Given the description of an element on the screen output the (x, y) to click on. 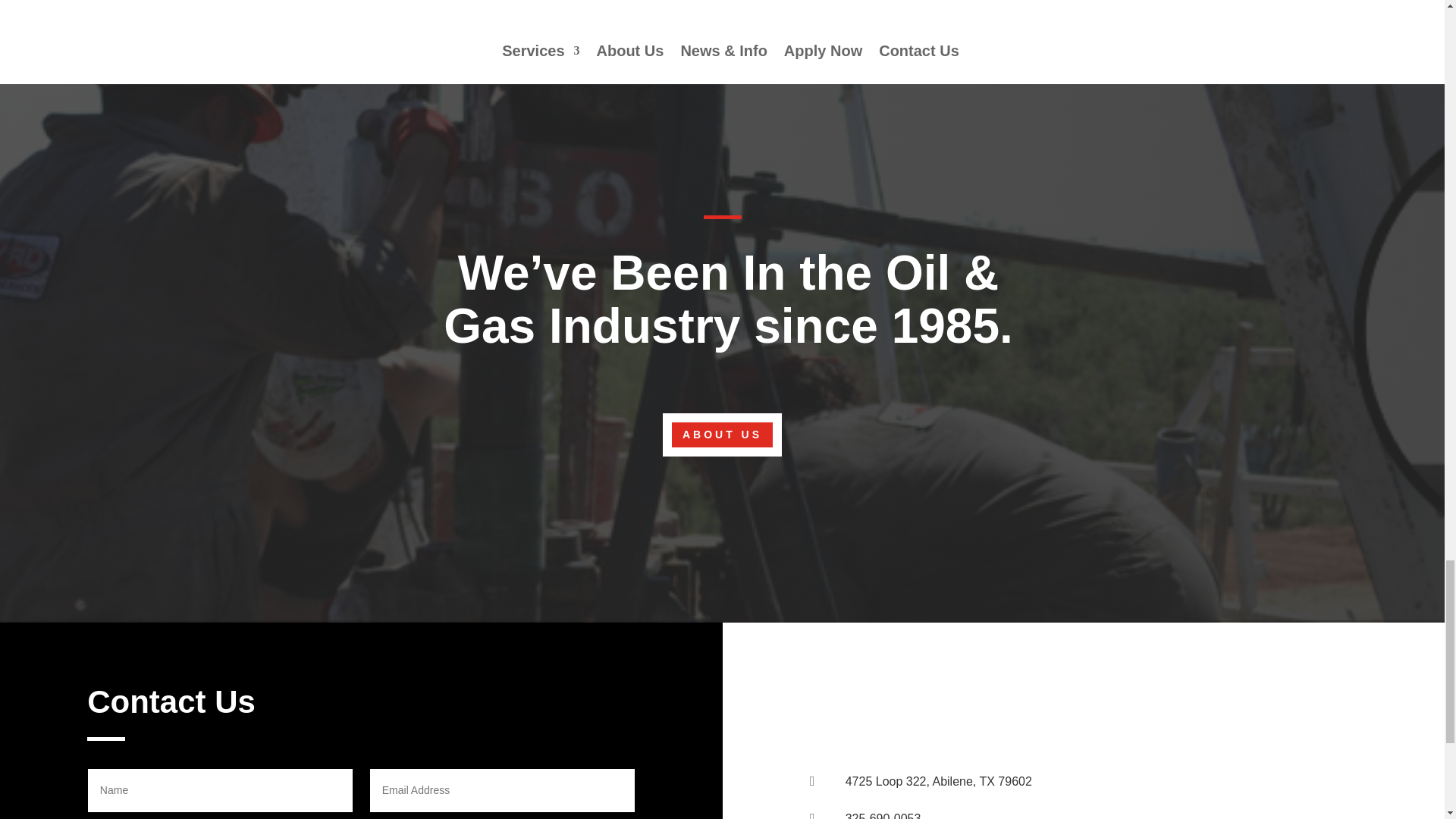
ABOUT US (721, 434)
